Given the description of an element on the screen output the (x, y) to click on. 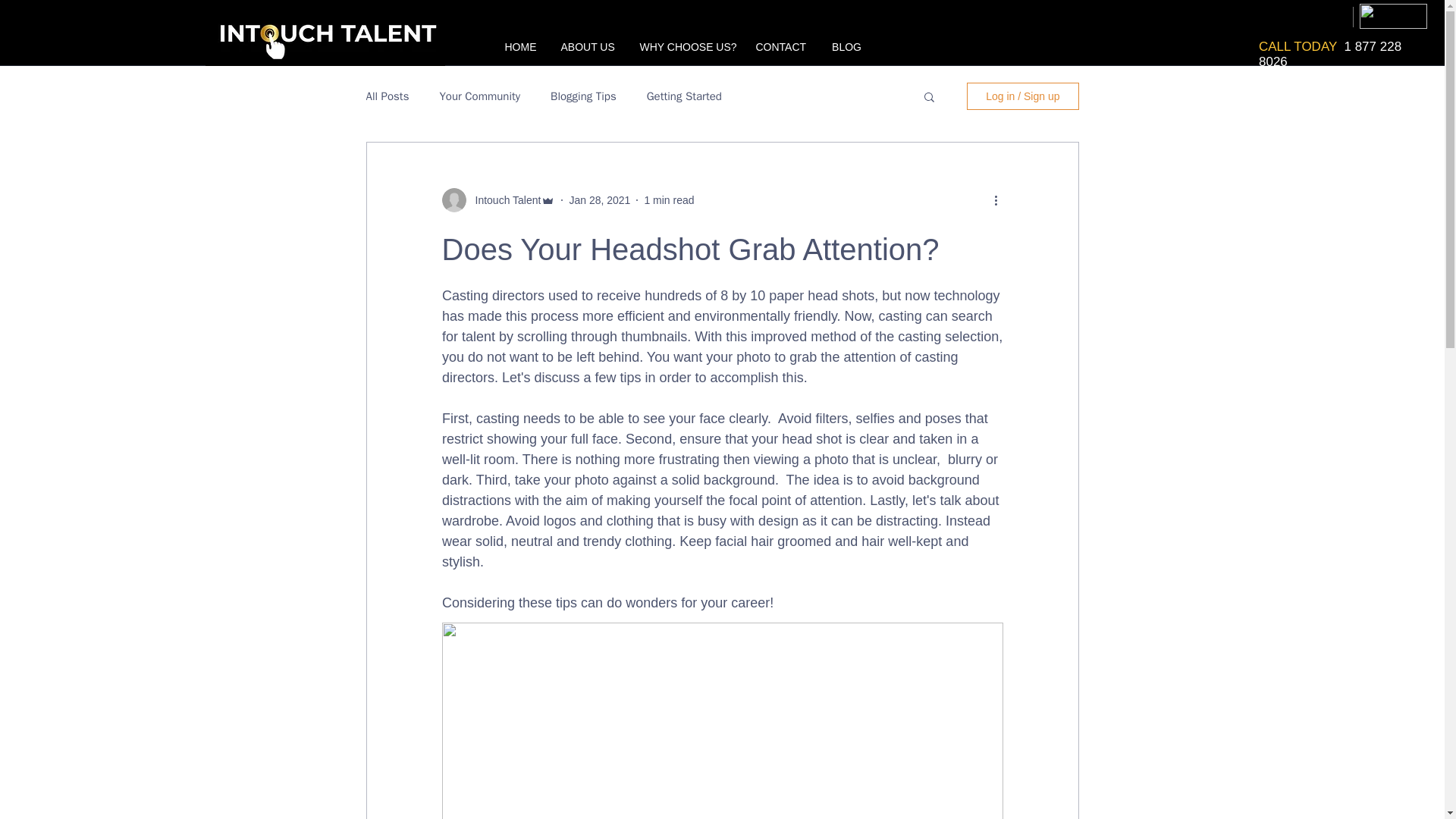
BLOG (846, 40)
WHY CHOOSE US? (684, 40)
1 min read (668, 200)
All Posts (387, 96)
Your Community (479, 96)
CONTACT (780, 40)
HOME (519, 40)
Intouch Talent (502, 200)
Blogging Tips (582, 96)
Jan 28, 2021 (599, 200)
Getting Started (684, 96)
ABOUT US (586, 40)
